Given the description of an element on the screen output the (x, y) to click on. 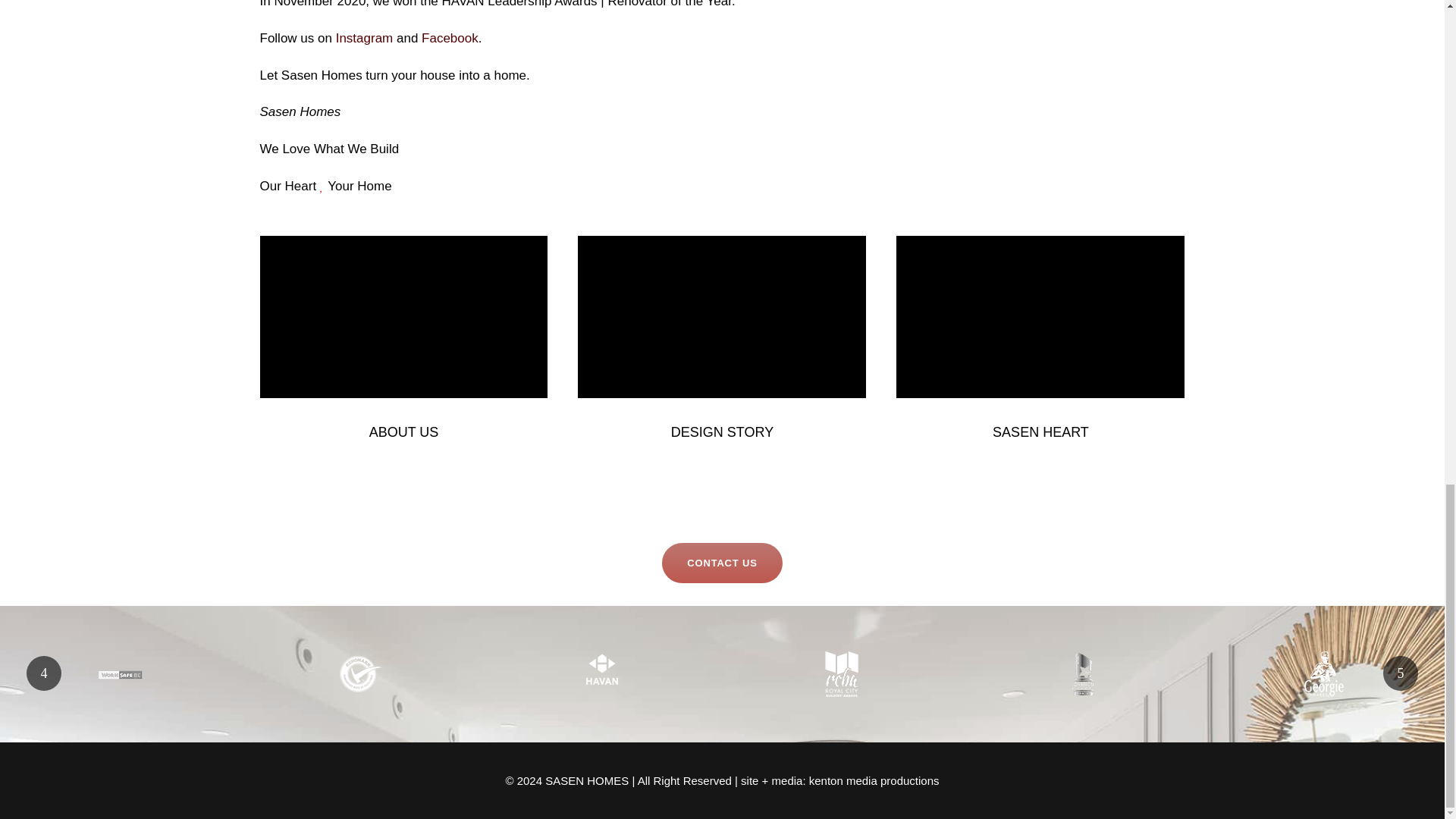
RENOMARK (360, 673)
HAVAN (602, 670)
Georgie Awards (1323, 673)
Ovation Award (1083, 673)
RCBA (841, 673)
